Given the description of an element on the screen output the (x, y) to click on. 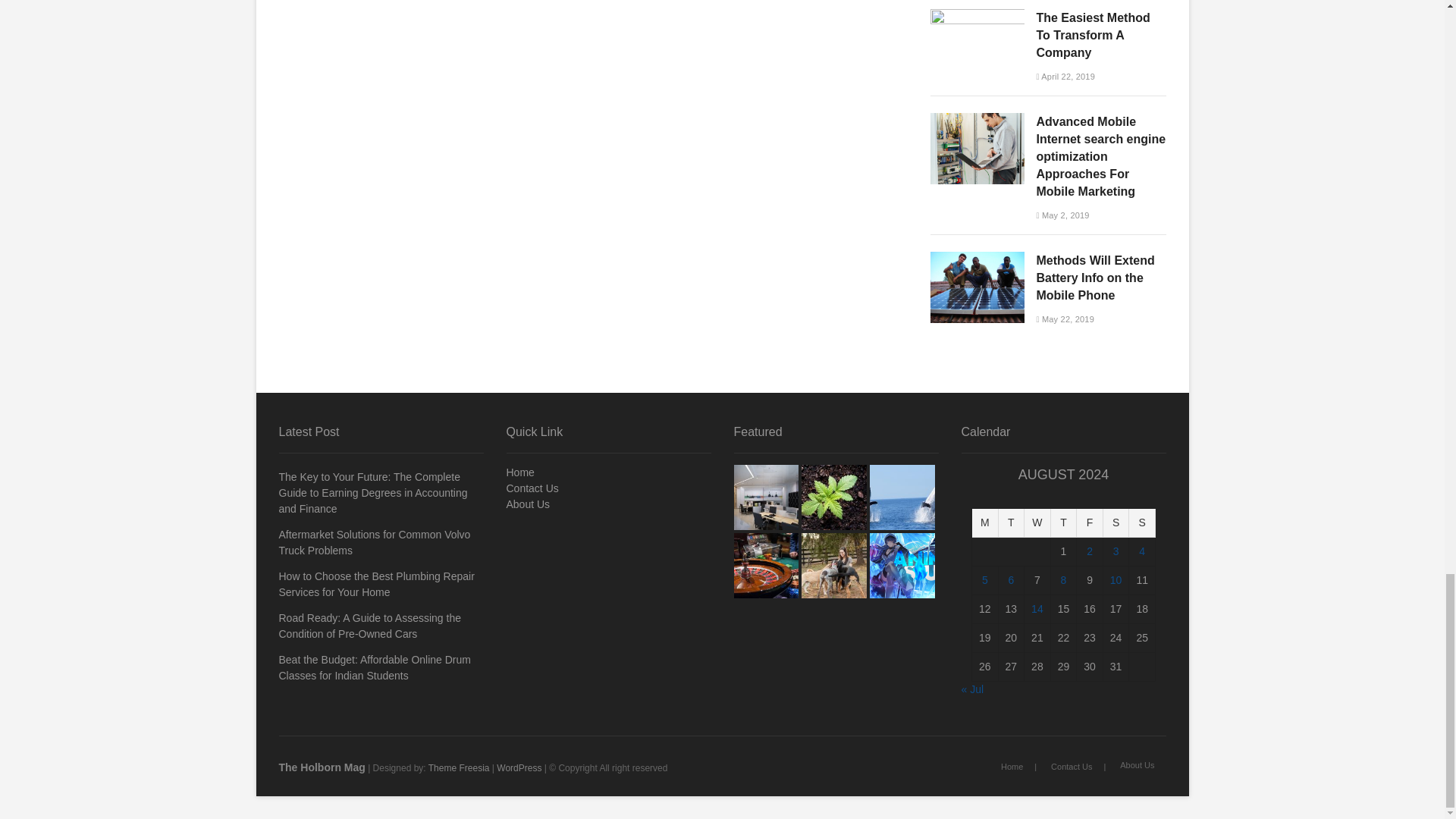
April 22, 2019 (1064, 76)
The Easiest Method To Transform A Company (977, 16)
